Given the description of an element on the screen output the (x, y) to click on. 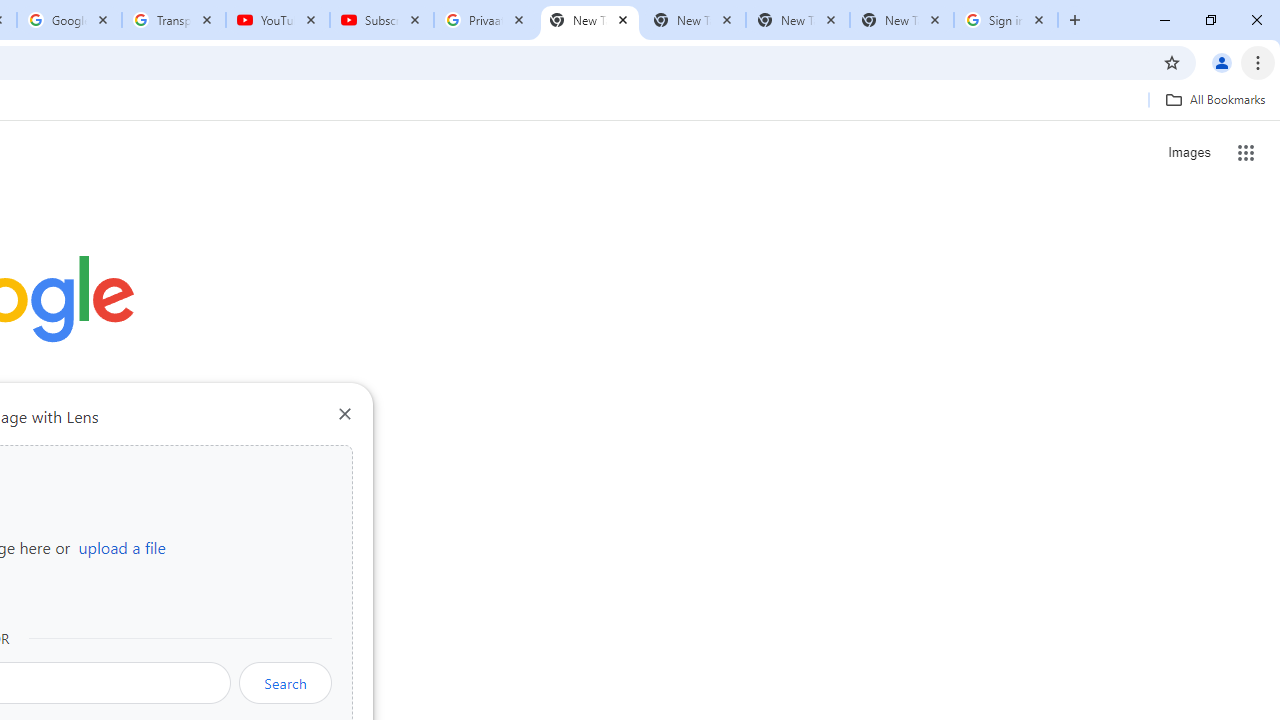
Google Account (68, 20)
New Tab (901, 20)
Subscriptions - YouTube (381, 20)
Sign in - Google Accounts (1005, 20)
